Given the description of an element on the screen output the (x, y) to click on. 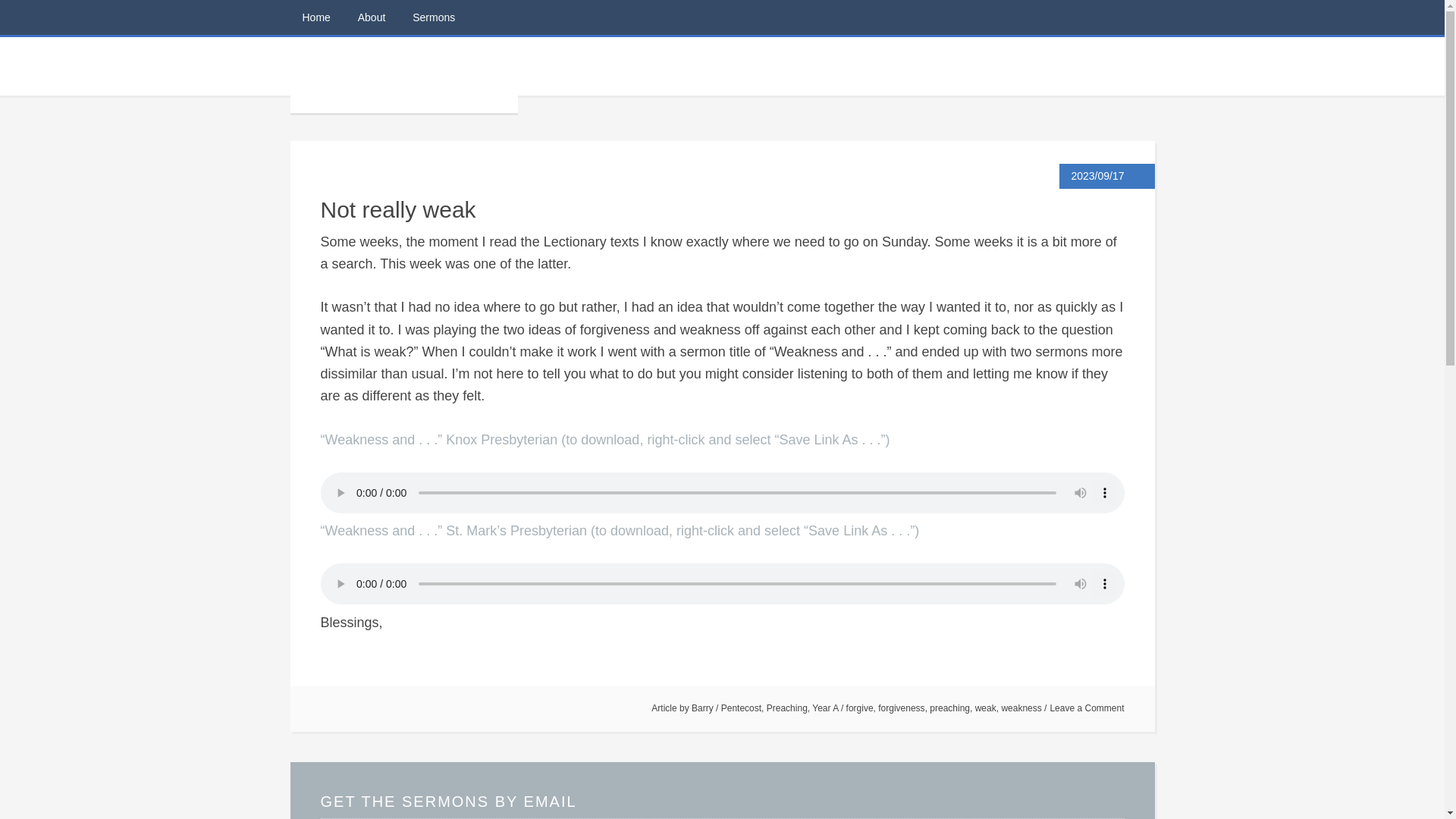
forgive (859, 707)
Home (315, 17)
Pentecost (740, 707)
Year A (825, 707)
Barry (702, 707)
weak (985, 707)
Sermons (433, 17)
About (371, 17)
WORDS FROM THE MIDDLE (402, 74)
forgiveness (900, 707)
